Given the description of an element on the screen output the (x, y) to click on. 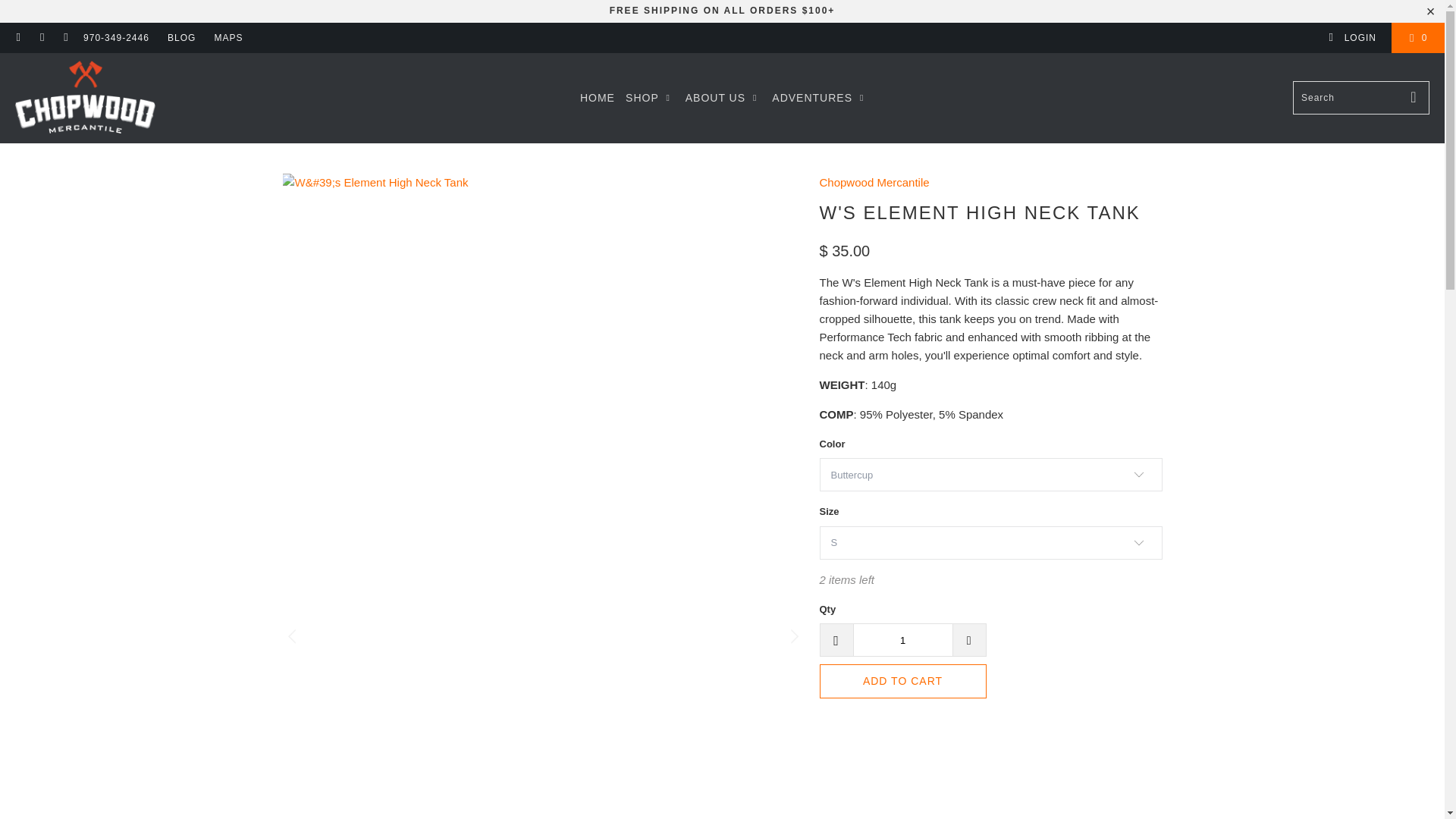
1 (901, 639)
Chopwood Mercantile on Instagram (41, 37)
Chopwood Mercantile (84, 97)
Email Chopwood Mercantile (65, 37)
Chopwood Mercantile (873, 182)
My Account  (1351, 37)
Chopwood Mercantile on Facebook (17, 37)
